Given the description of an element on the screen output the (x, y) to click on. 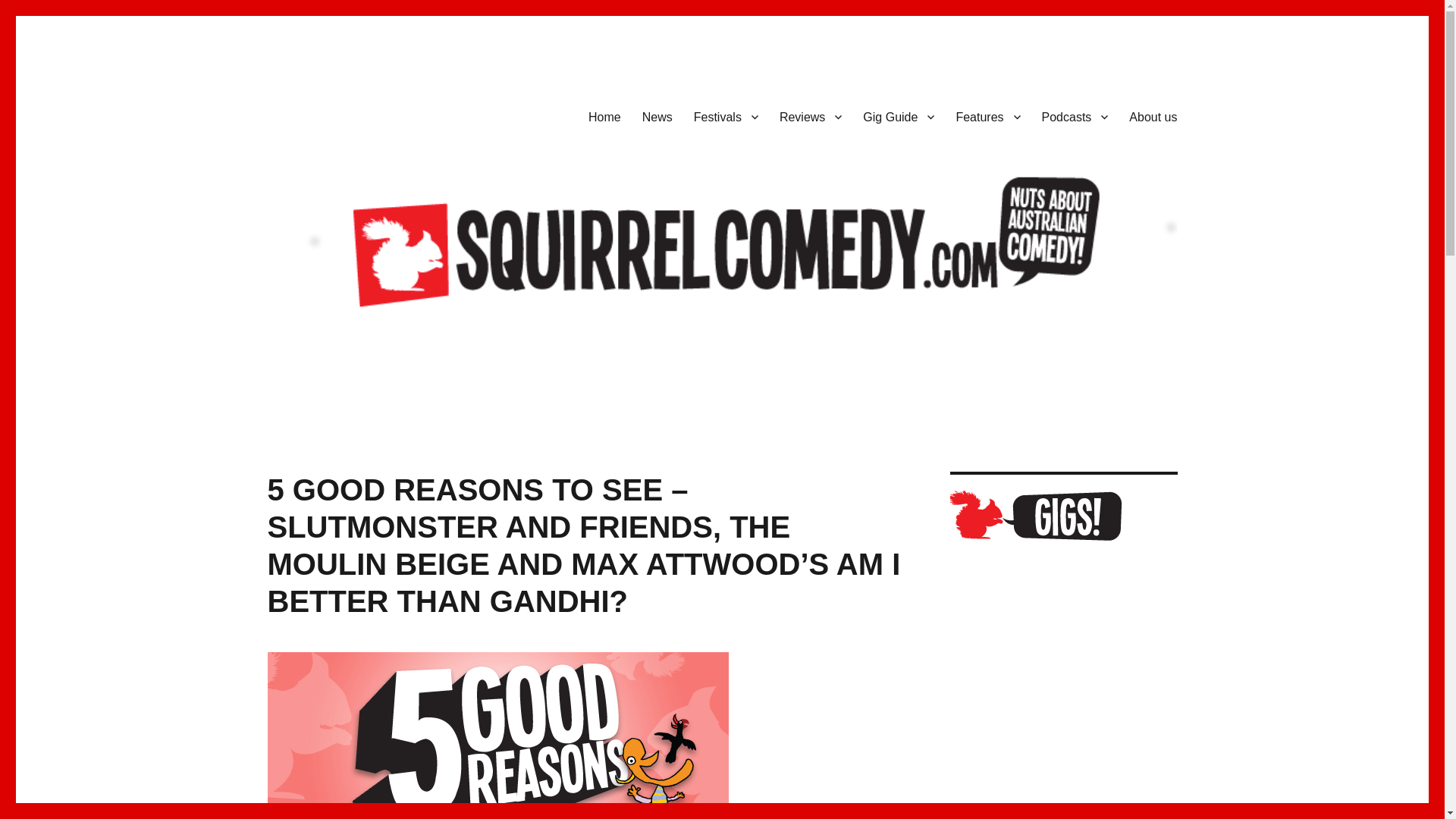
Gig Guide (897, 116)
Home (604, 116)
News (656, 116)
Podcasts (1074, 116)
Festivals (725, 116)
Reviews (809, 116)
About us (1153, 116)
Squirrel Comedy (351, 114)
Features (987, 116)
